Given the description of an element on the screen output the (x, y) to click on. 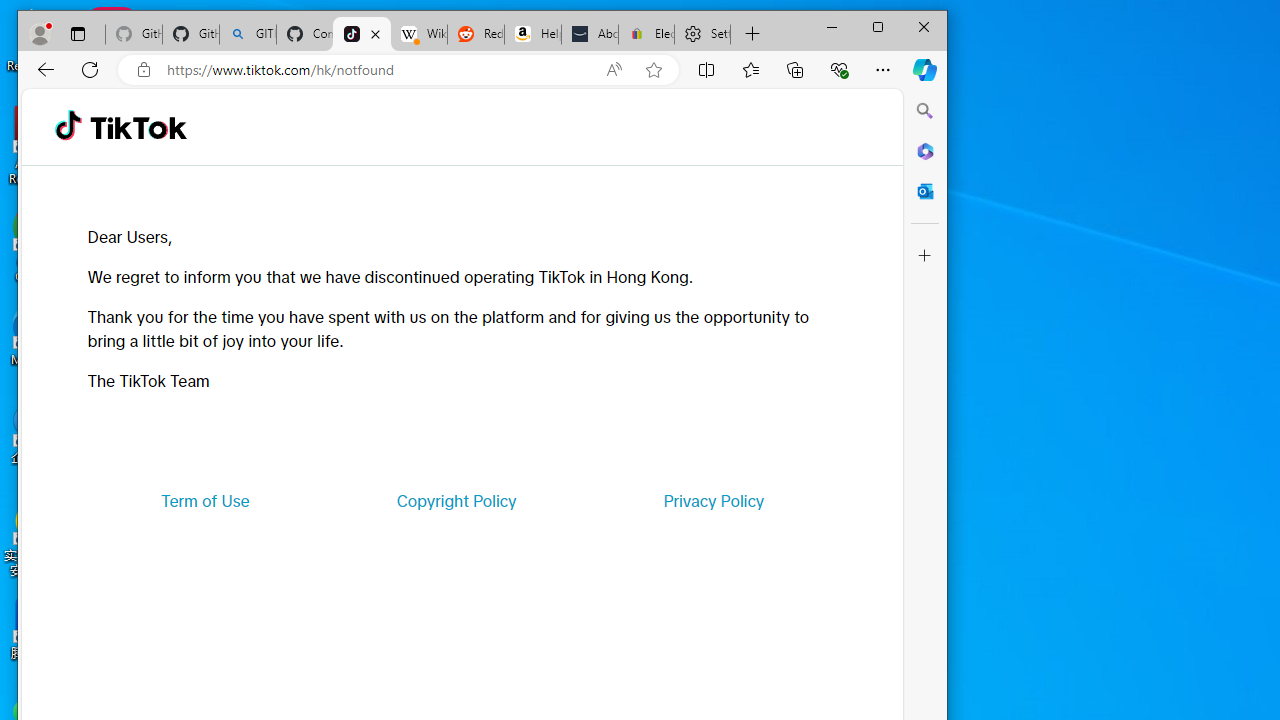
Privacy Policy (713, 500)
Term of Use (205, 500)
GITHUB - Search (248, 34)
